Given the description of an element on the screen output the (x, y) to click on. 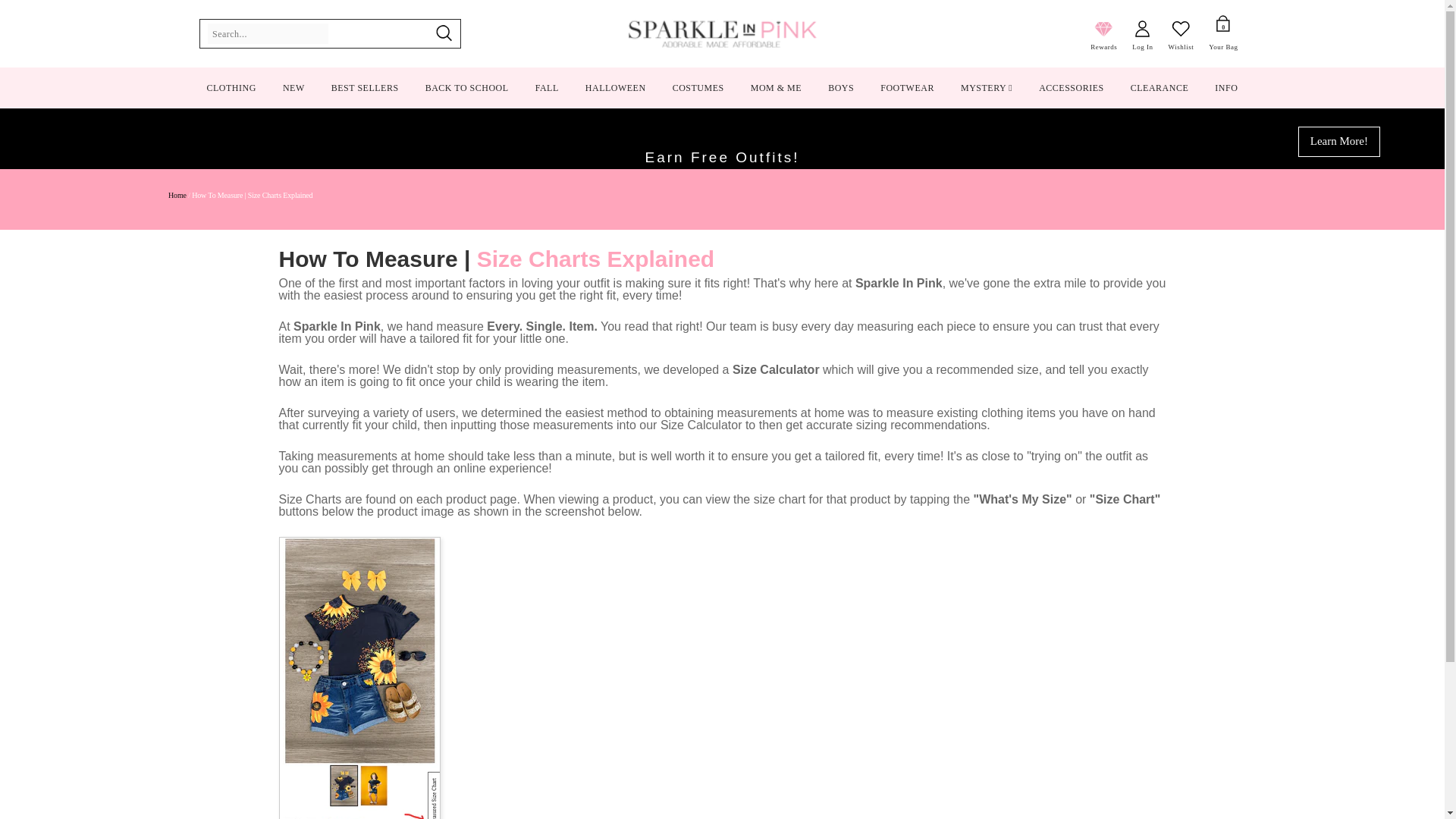
Home (177, 194)
